Given the description of an element on the screen output the (x, y) to click on. 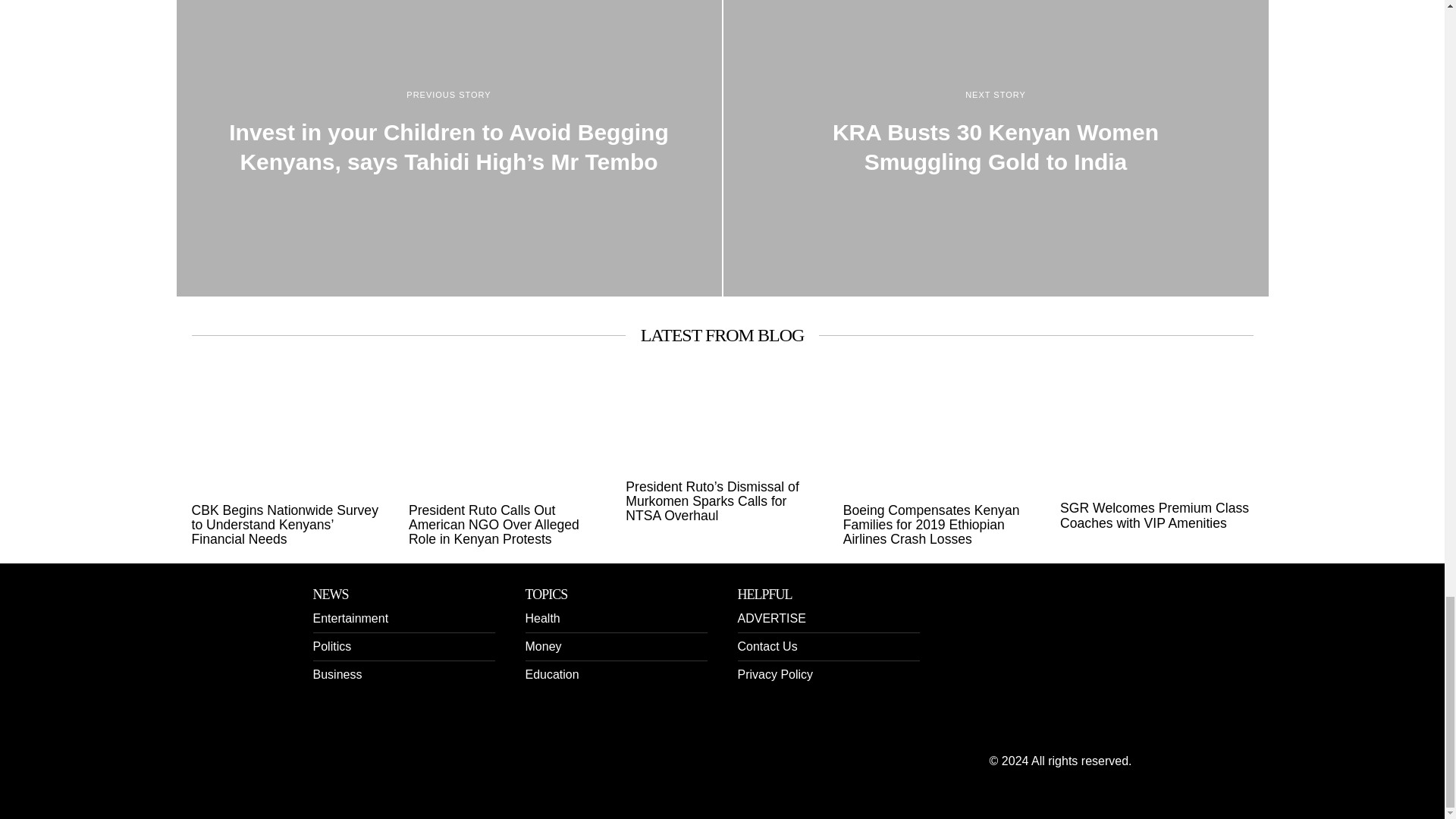
Business (337, 674)
Entertainment (350, 617)
Politics (331, 645)
SGR Welcomes Premium Class Coaches with VIP Amenities (1155, 515)
